Given the description of an element on the screen output the (x, y) to click on. 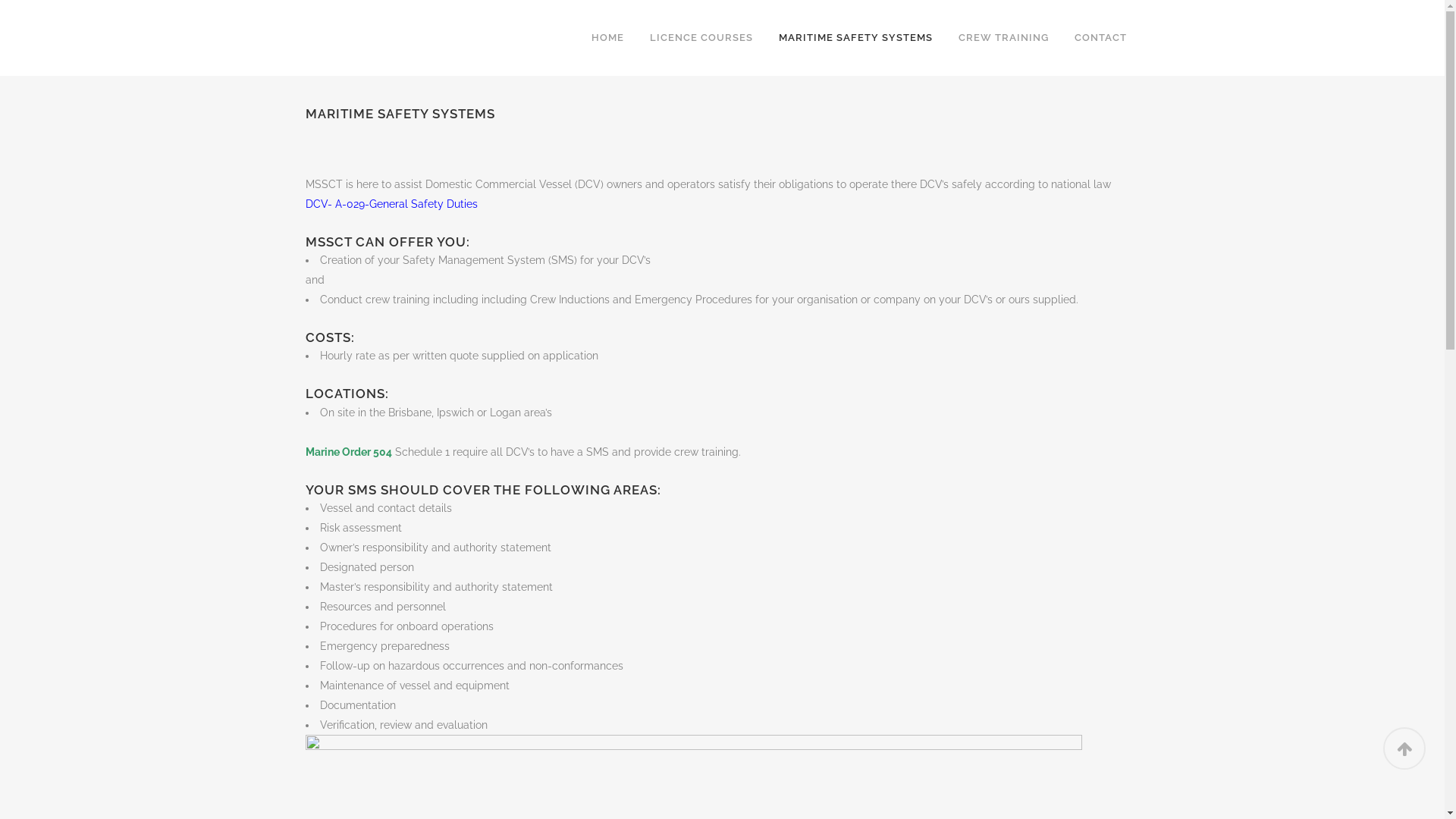
CONTACT Element type: text (1100, 37)
DCV- A-029-General Safety Duties Element type: text (390, 203)
Marine Order 504 Element type: text (347, 451)
CREW TRAINING Element type: text (1002, 37)
LICENCE COURSES Element type: text (701, 37)
MARITIME SAFETY SYSTEMS Element type: text (855, 37)
HOME Element type: text (606, 37)
